Given the description of an element on the screen output the (x, y) to click on. 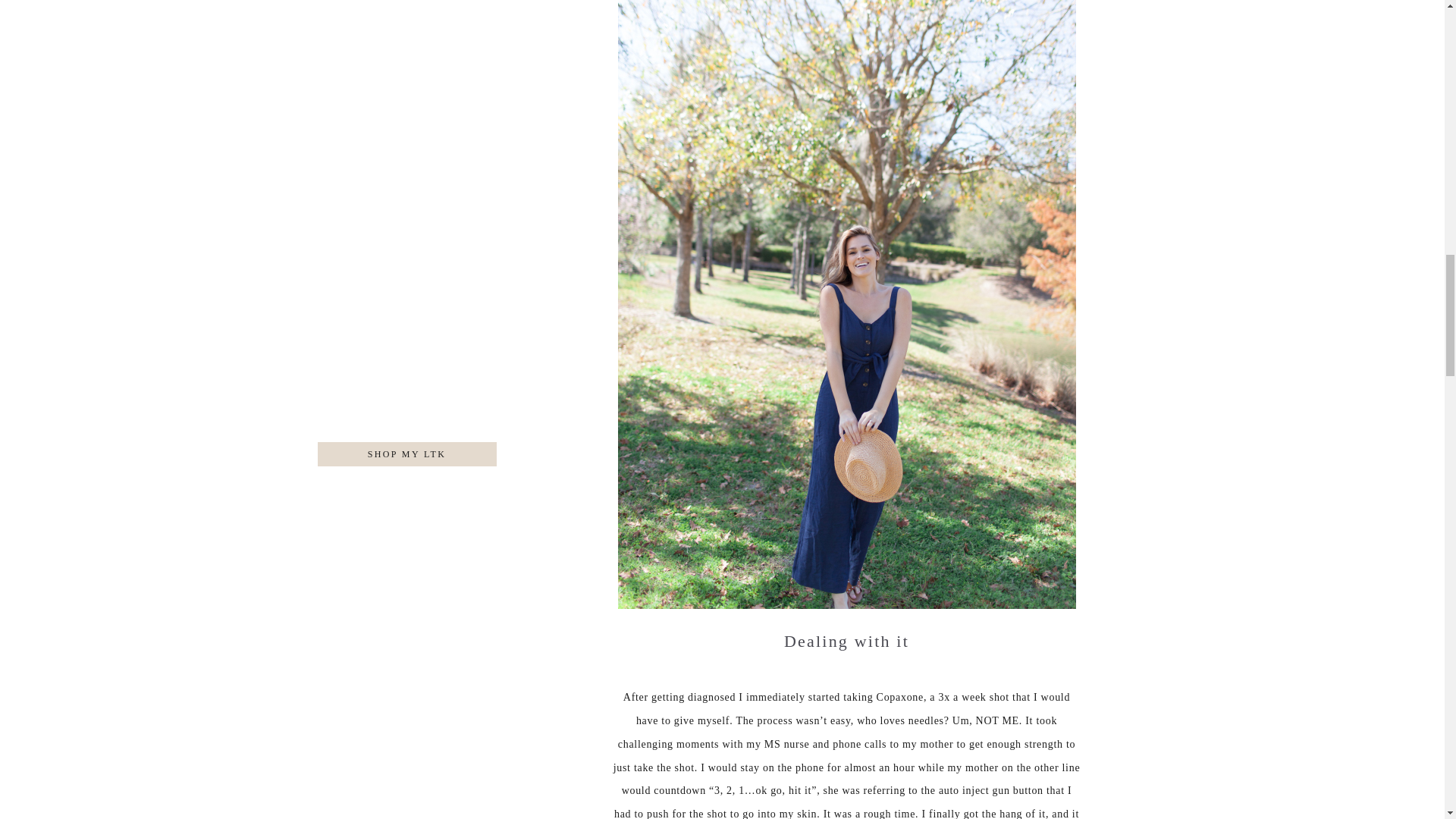
SHOP MY LTK (407, 534)
STAY CONNECTED (405, 460)
